Given the description of an element on the screen output the (x, y) to click on. 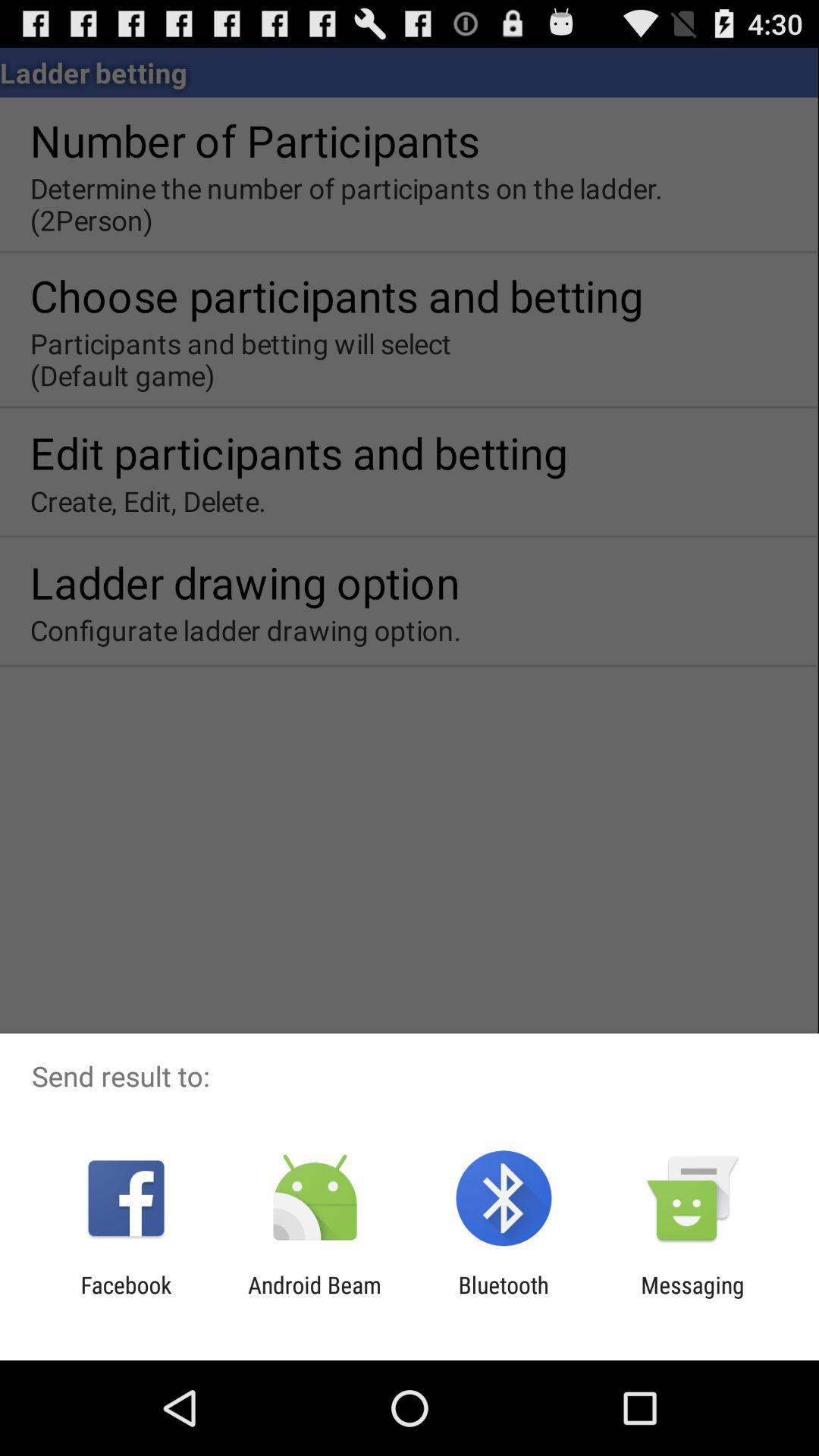
launch the app next to android beam icon (503, 1298)
